Given the description of an element on the screen output the (x, y) to click on. 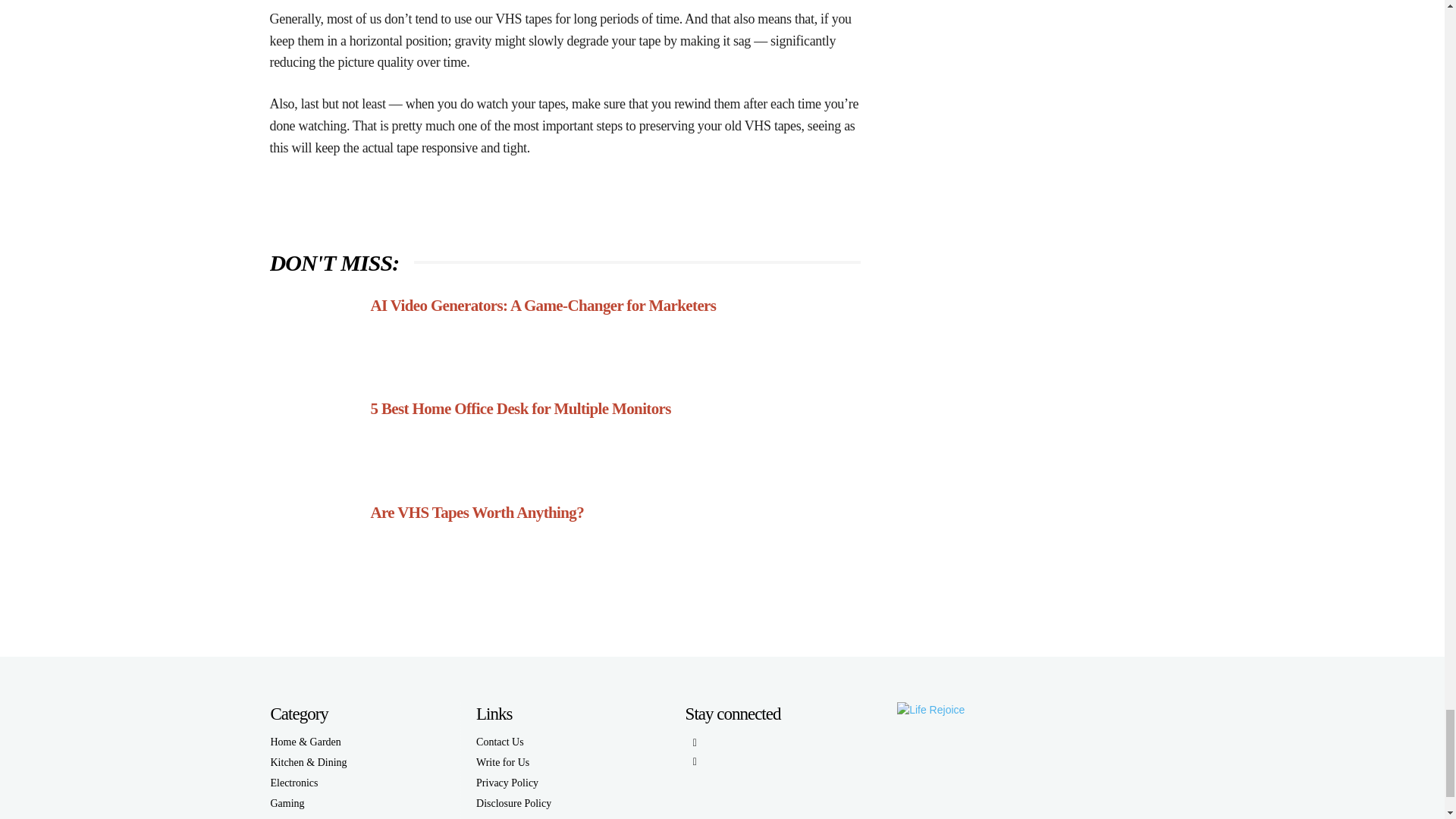
Tech (310, 816)
5 Best Home Office Desk for Multiple Monitors (519, 408)
5 Best Home Office Desk for Multiple Monitors (313, 437)
Electronics (310, 783)
Contact Us (513, 742)
Privacy Policy (513, 783)
5 Best Home Office Desk for Multiple Monitors (519, 408)
Are VHS Tapes Worth Anything? (476, 512)
Write for Us (513, 762)
AI Video Generators: A Game-Changer for Marketers (542, 304)
Are VHS Tapes Worth Anything? (313, 541)
Gaming (310, 803)
AI Video Generators: A Game-Changer for Marketers (542, 304)
AI Video Generators: A Game-Changer for Marketers (313, 333)
Disclosure Policy (513, 803)
